Given the description of an element on the screen output the (x, y) to click on. 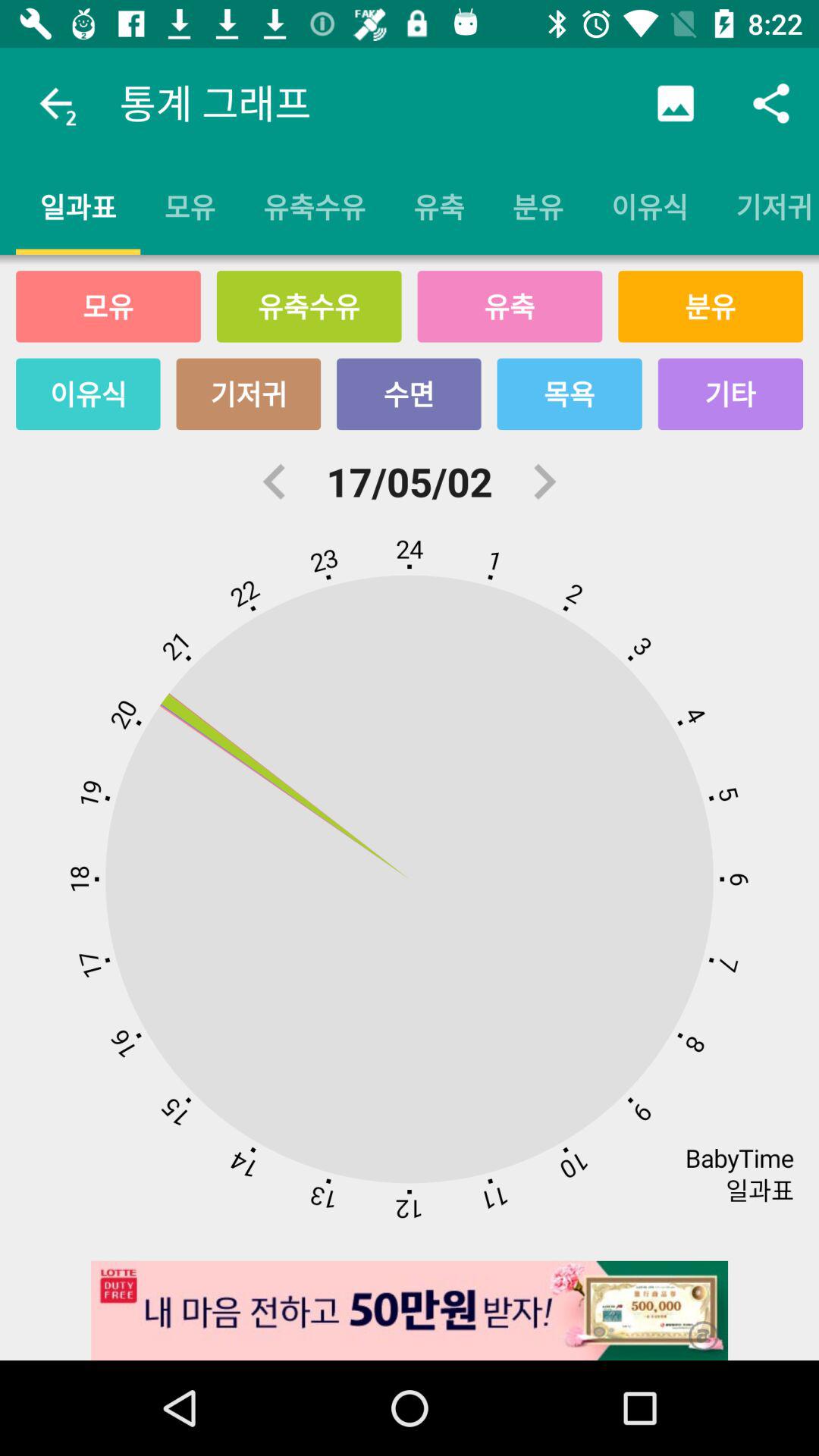
select the item to the right of 17/05/02 (544, 481)
